Given the description of an element on the screen output the (x, y) to click on. 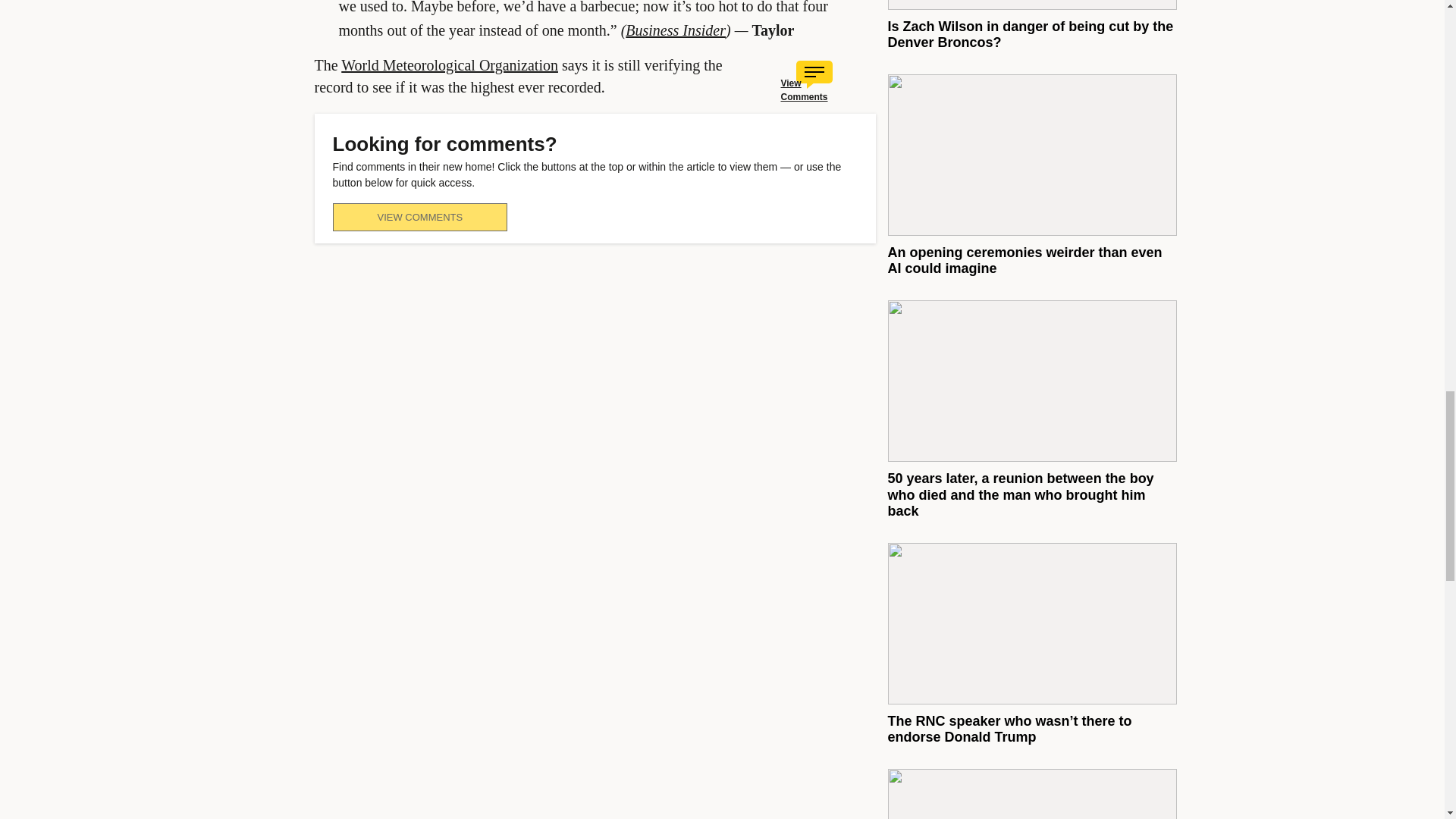
World Meteorological Organization (448, 64)
Business Insider (675, 30)
VIEW COMMENTS (418, 216)
